Given the description of an element on the screen output the (x, y) to click on. 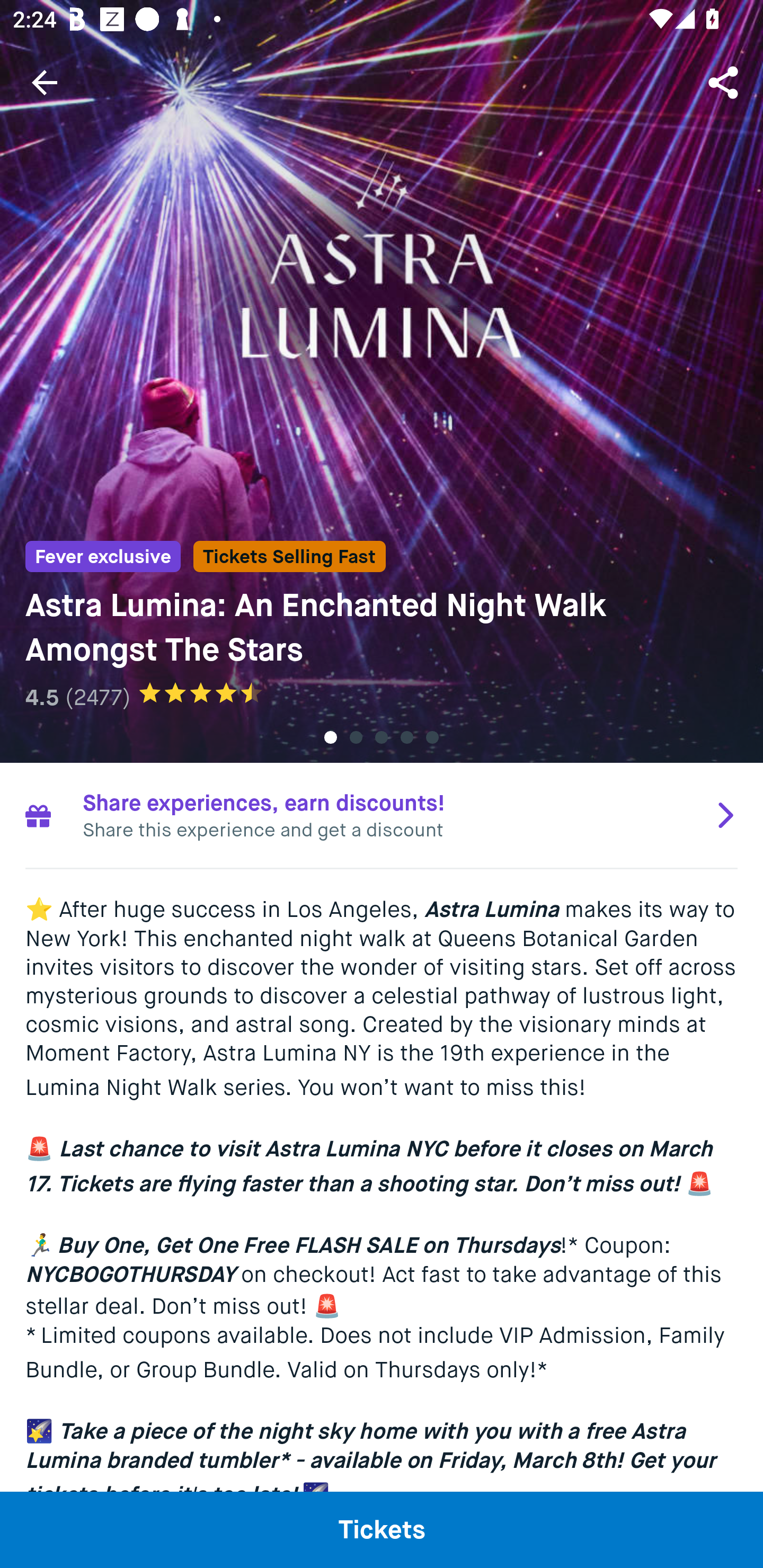
Navigate up (44, 82)
Share (724, 81)
(2477) (97, 697)
Tickets (381, 1529)
